Given the description of an element on the screen output the (x, y) to click on. 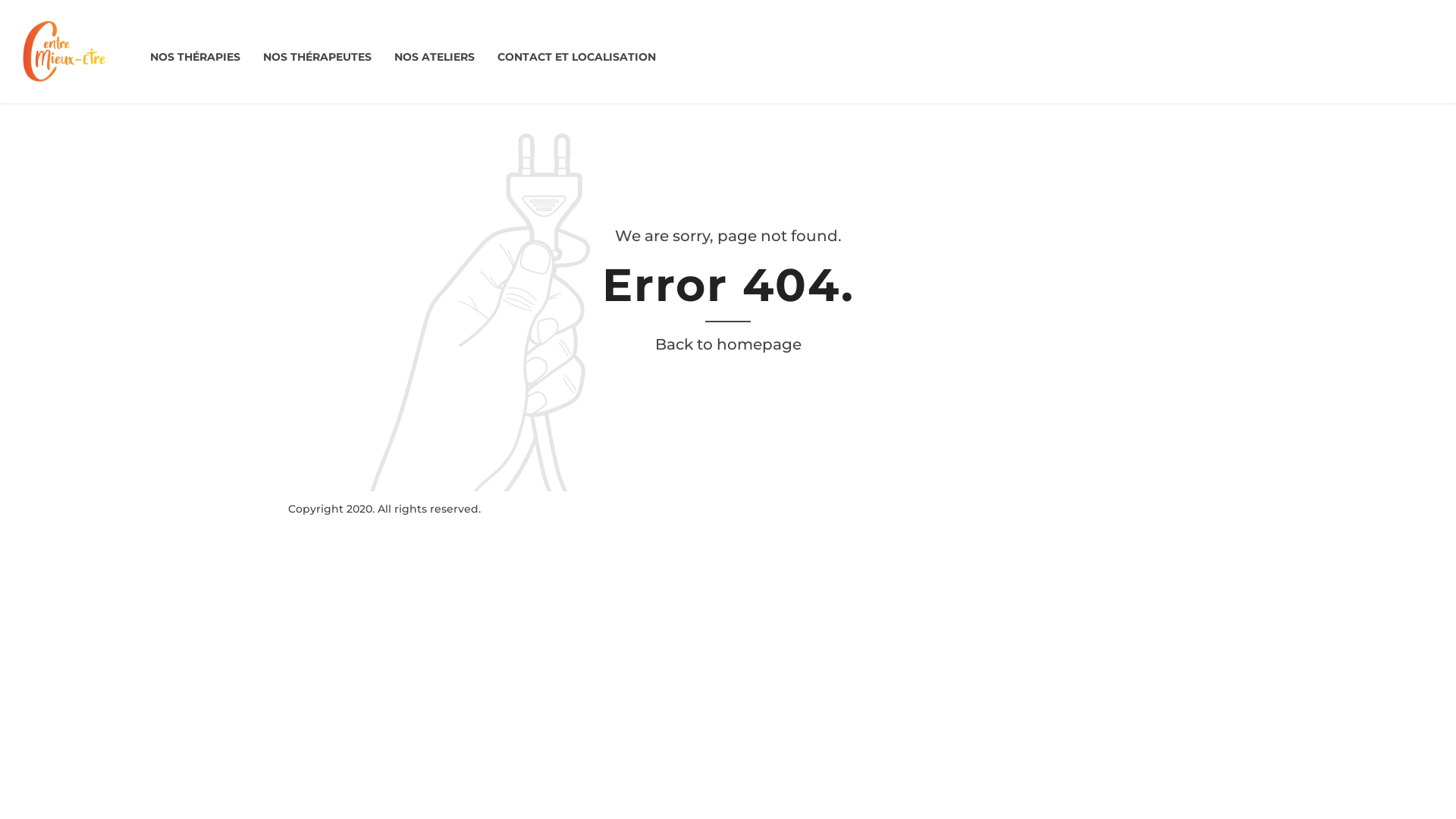
Back to homepage Element type: text (728, 344)
CONTACT ET LOCALISATION Element type: text (576, 57)
NOS ATELIERS Element type: text (434, 57)
